Given the description of an element on the screen output the (x, y) to click on. 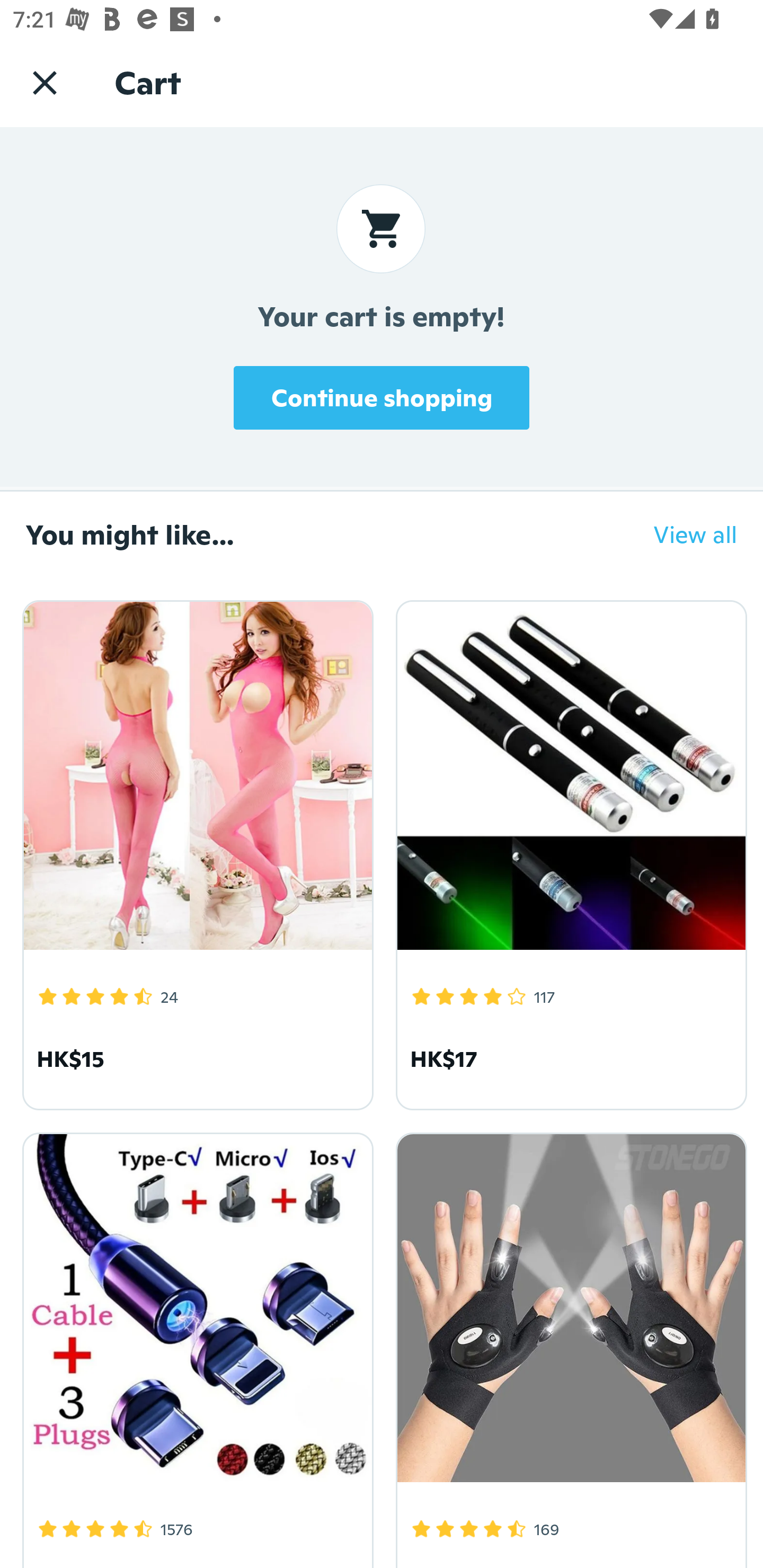
Navigate up (44, 82)
Continue shopping (381, 397)
View all (682, 534)
4.2 Star Rating 24 HK$15 (194, 852)
3.9 Star Rating 117 HK$17 (567, 852)
4.3 Star Rating 1576 (194, 1346)
4.5 Star Rating 169 (567, 1346)
